Given the description of an element on the screen output the (x, y) to click on. 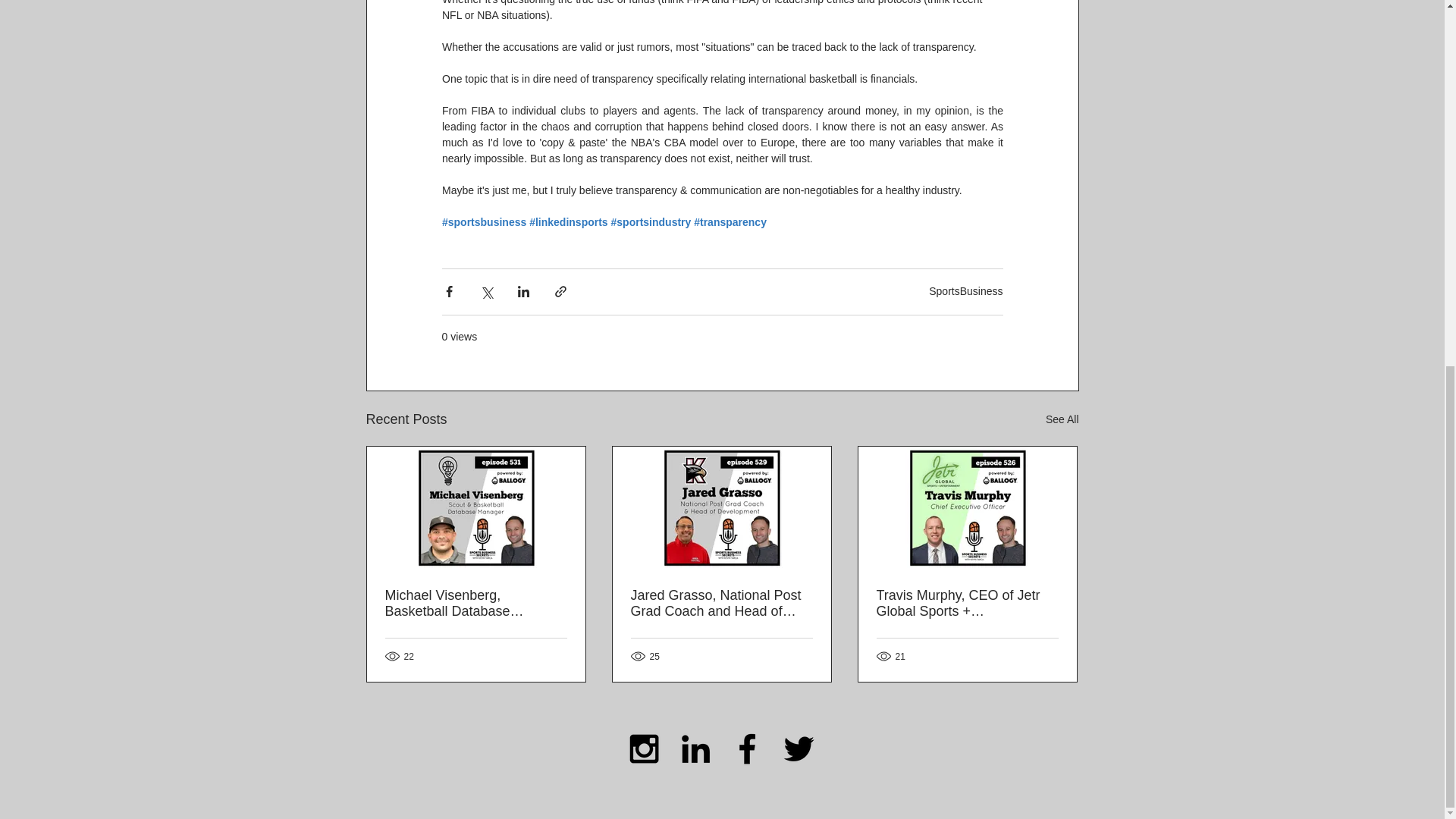
Michael Visenberg, Basketball Database Manager at ProInsight (476, 603)
SportsBusiness (965, 291)
See All (1061, 419)
